Given the description of an element on the screen output the (x, y) to click on. 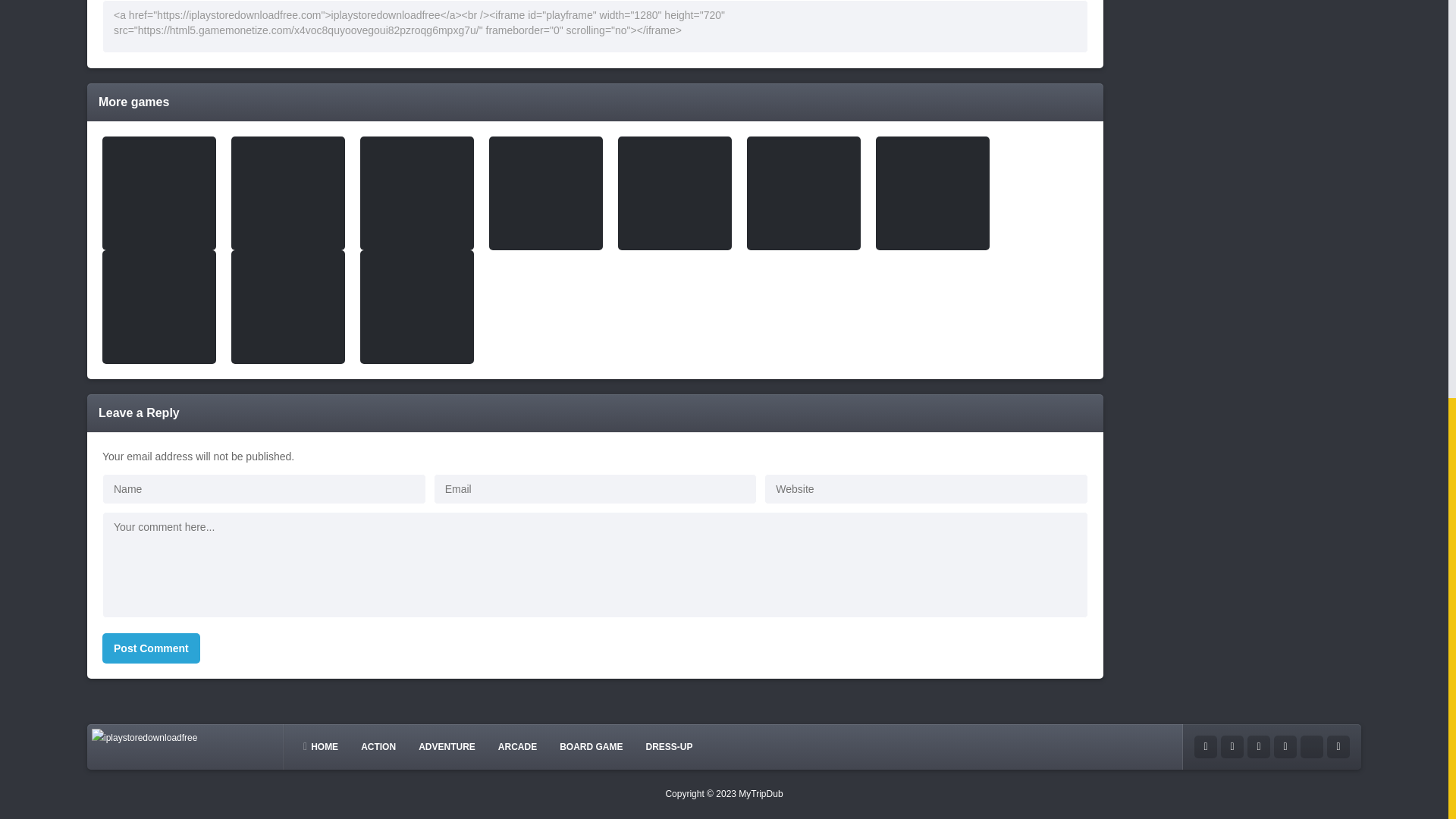
Post Comment (150, 648)
